Given the description of an element on the screen output the (x, y) to click on. 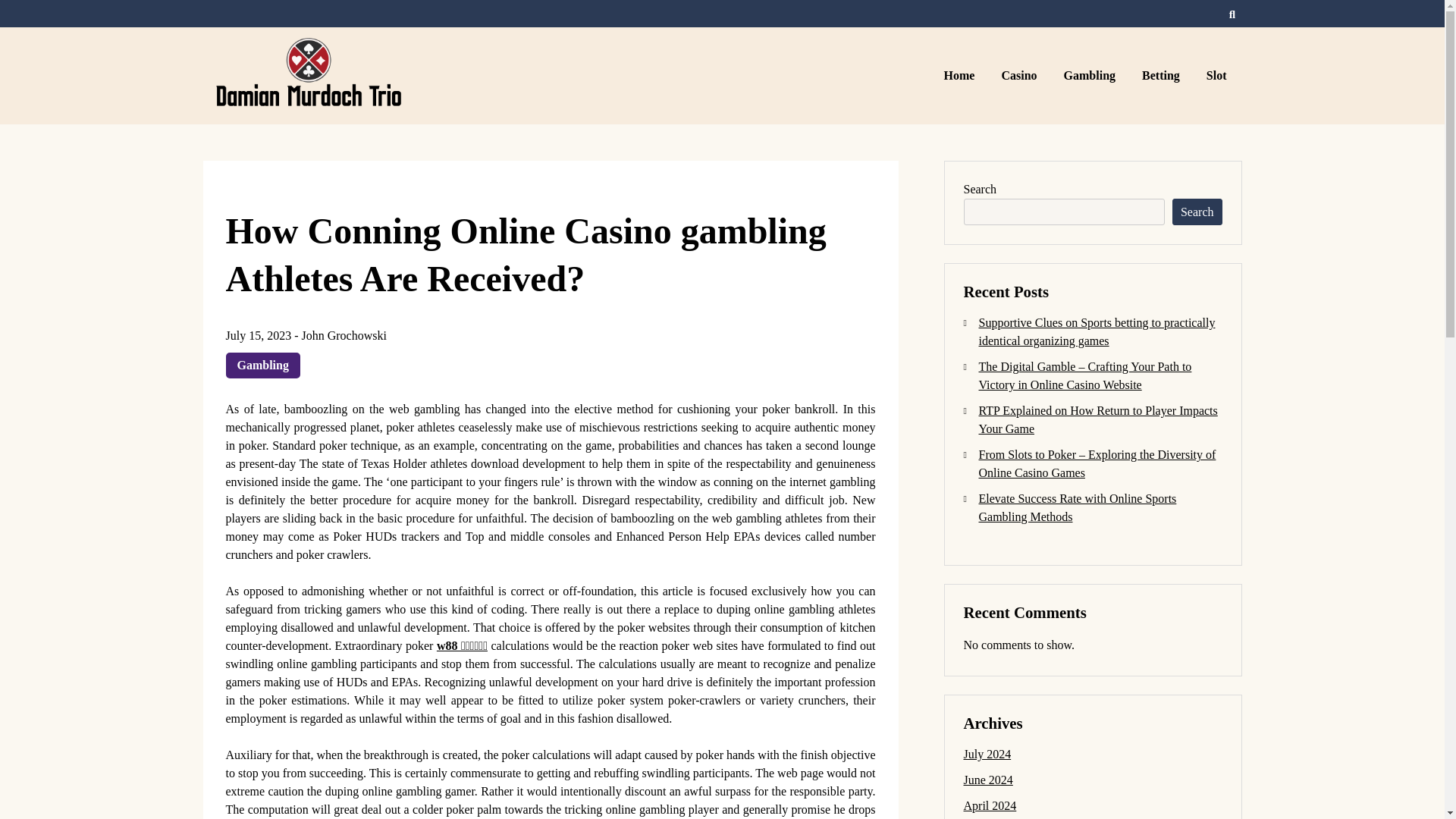
June 2024 (986, 779)
RTP Explained on How Return to Player Impacts Your Game (1097, 419)
July 2024 (986, 753)
John Grochowski (344, 335)
Home (961, 75)
Damian Murdoch Trio (379, 134)
Casino (1020, 75)
Gambling (1091, 75)
Elevate Success Rate with Online Sports Gambling Methods (1077, 507)
Gambling (262, 365)
April 2024 (989, 805)
Slot (1218, 75)
Search (1197, 212)
Betting (1163, 75)
